Given the description of an element on the screen output the (x, y) to click on. 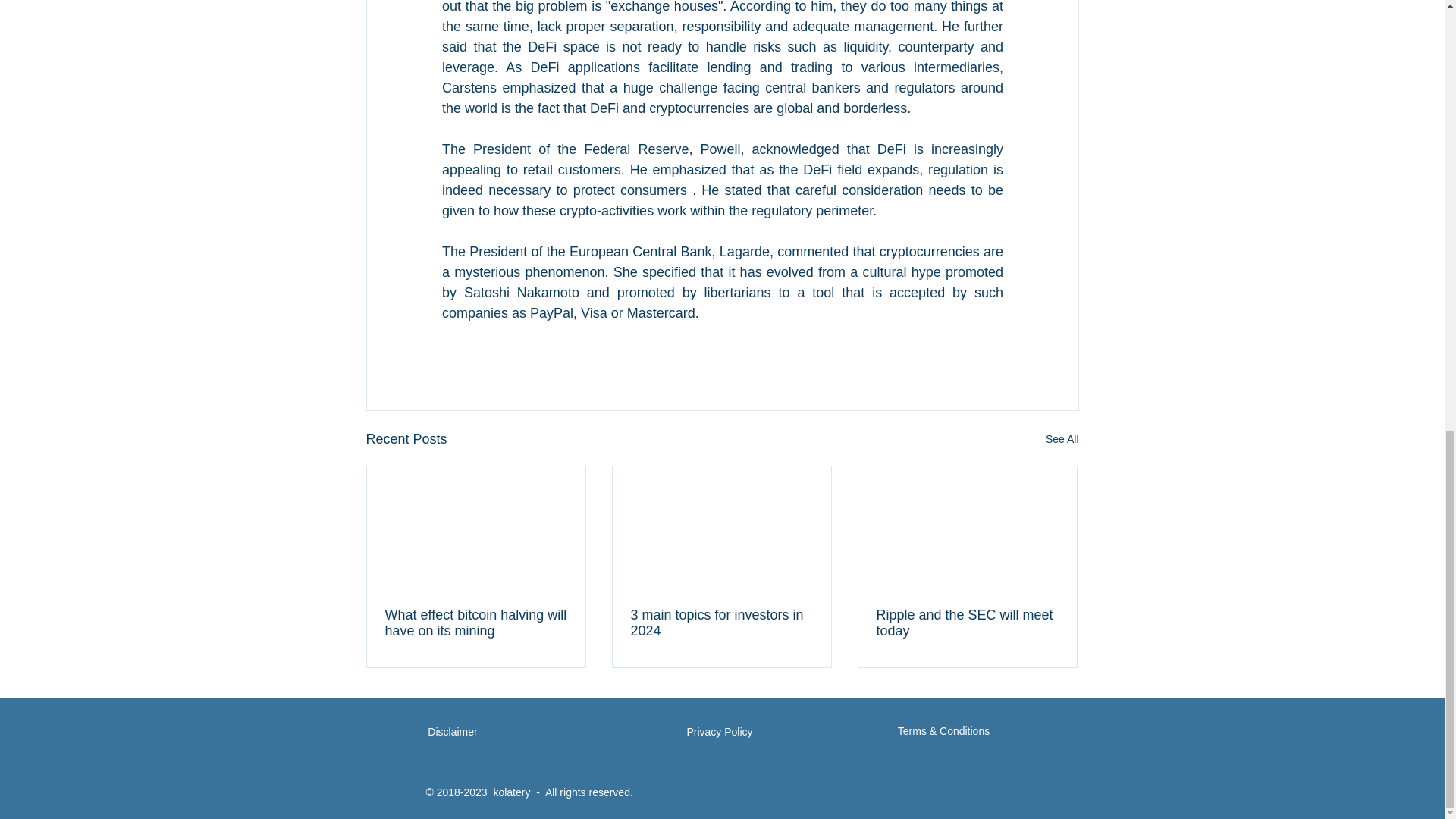
Privacy Policy (719, 732)
What effect bitcoin halving will have on its mining (476, 623)
See All (1061, 439)
Ripple and the SEC will meet today (967, 623)
Disclaimer (453, 732)
3 main topics for investors in 2024 (721, 623)
